Given the description of an element on the screen output the (x, y) to click on. 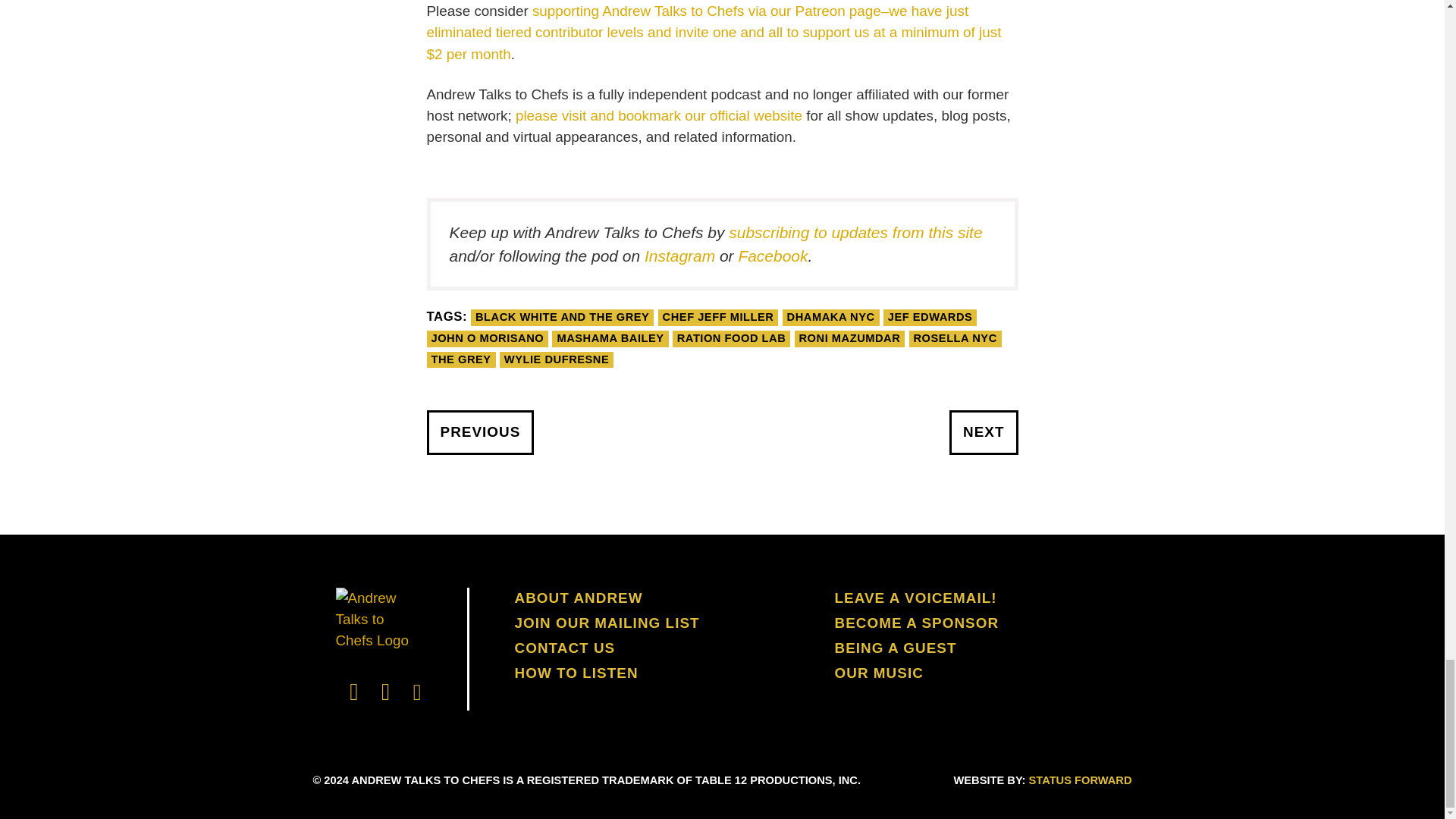
BLACK WHITE AND THE GREY (561, 317)
CHEF JEFF MILLER (718, 317)
Instagram (679, 255)
please visit and bookmark our official website (658, 115)
subscribing to updates from this site (855, 231)
Facebook (773, 255)
